Given the description of an element on the screen output the (x, y) to click on. 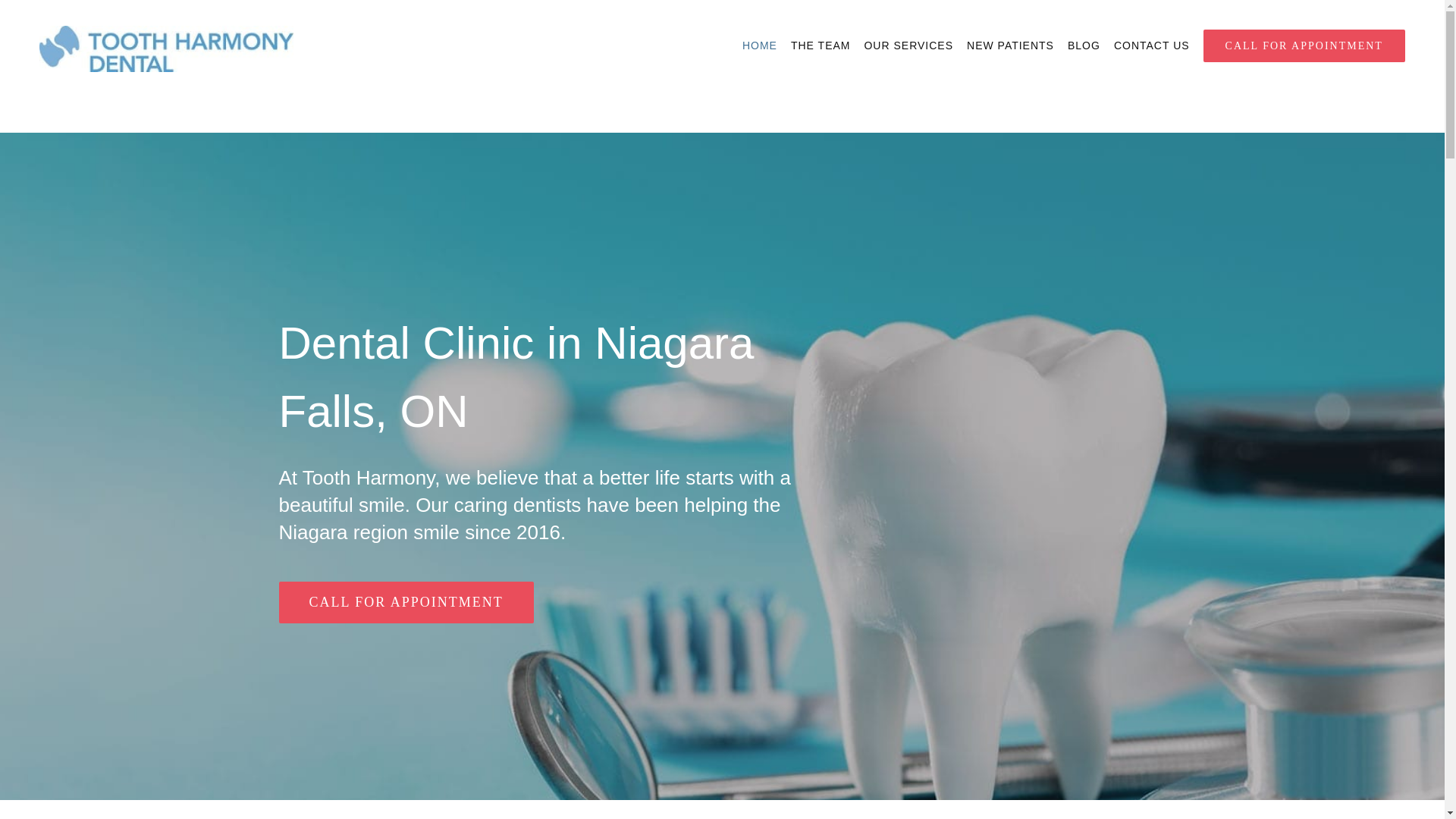
CALL FOR APPOINTMENT (406, 602)
OUR SERVICES (908, 45)
NEW PATIENTS (1010, 45)
CALL FOR APPOINTMENT (1304, 45)
